Given the description of an element on the screen output the (x, y) to click on. 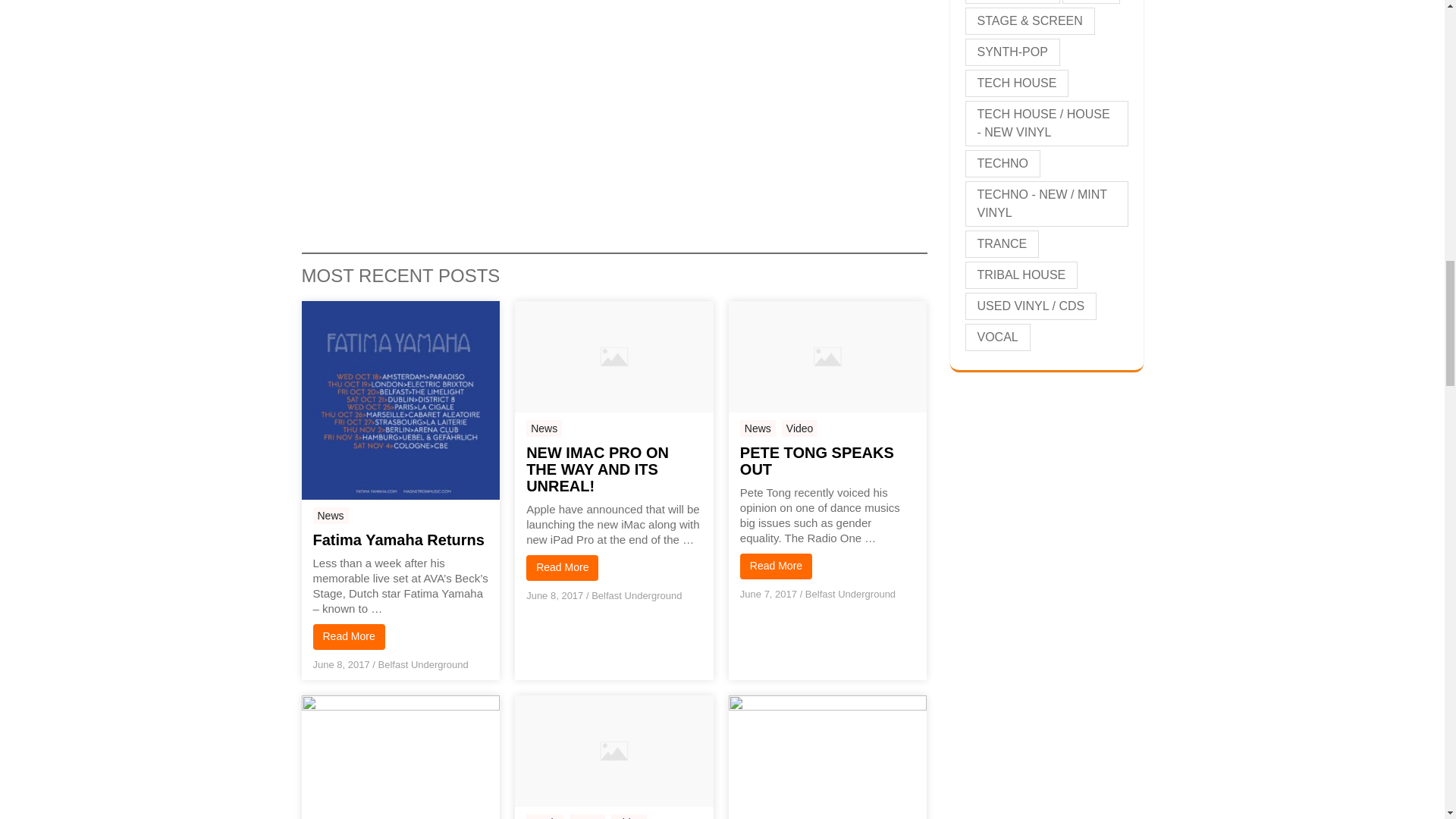
News (757, 428)
News (757, 428)
News (543, 428)
Fatima Yamaha Returns (400, 539)
Belfast Underground (850, 593)
Read More (775, 566)
Video (629, 816)
NEW IMAC PRO ON THE WAY AND ITS UNREAL! (613, 469)
Read More (561, 567)
PETE TONG SPEAKS OUT (827, 460)
Belfast Underground (636, 595)
Music (544, 816)
Read More (348, 637)
News (543, 428)
Video (799, 428)
